Given the description of an element on the screen output the (x, y) to click on. 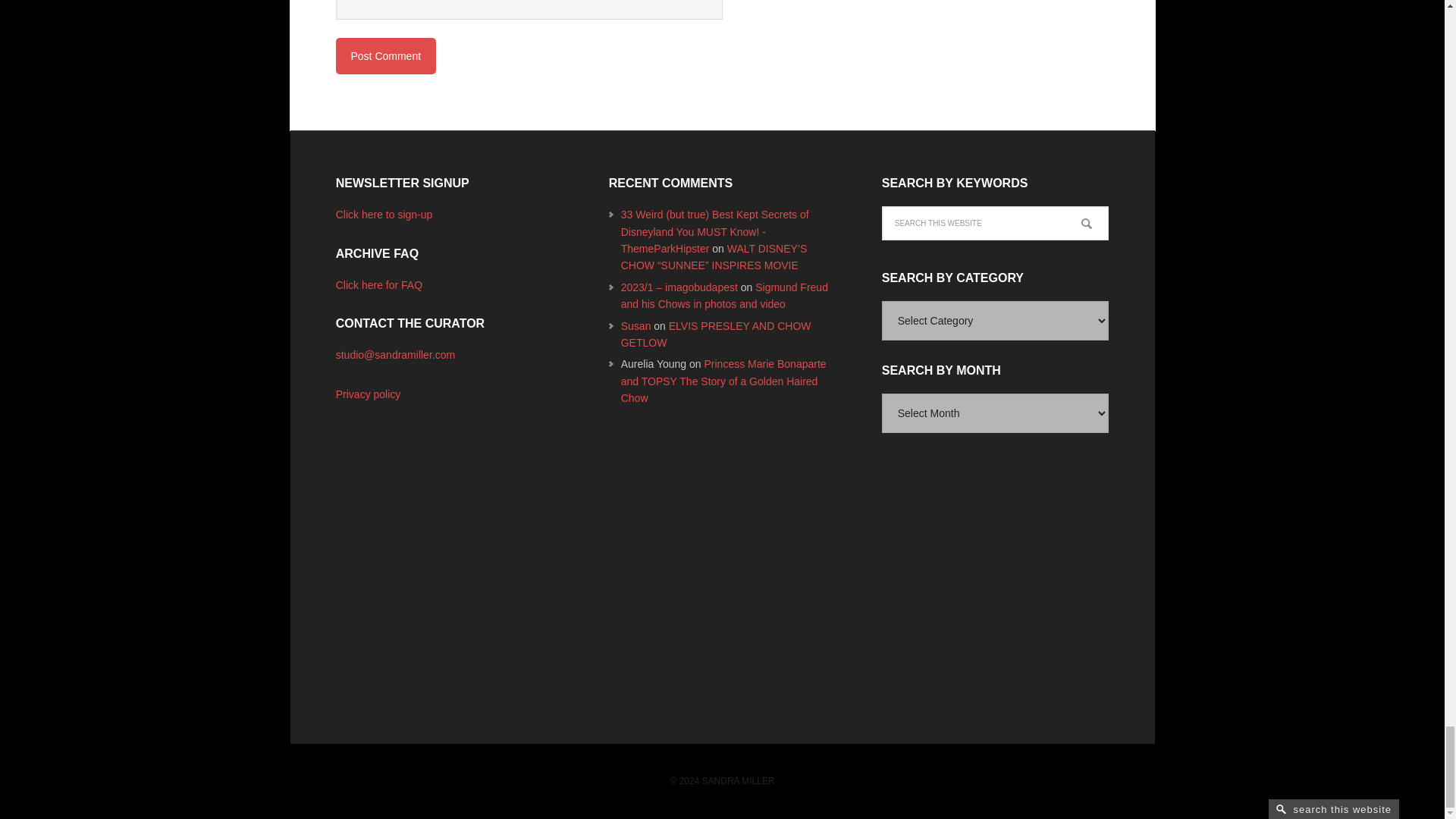
Post Comment (384, 55)
